Given the description of an element on the screen output the (x, y) to click on. 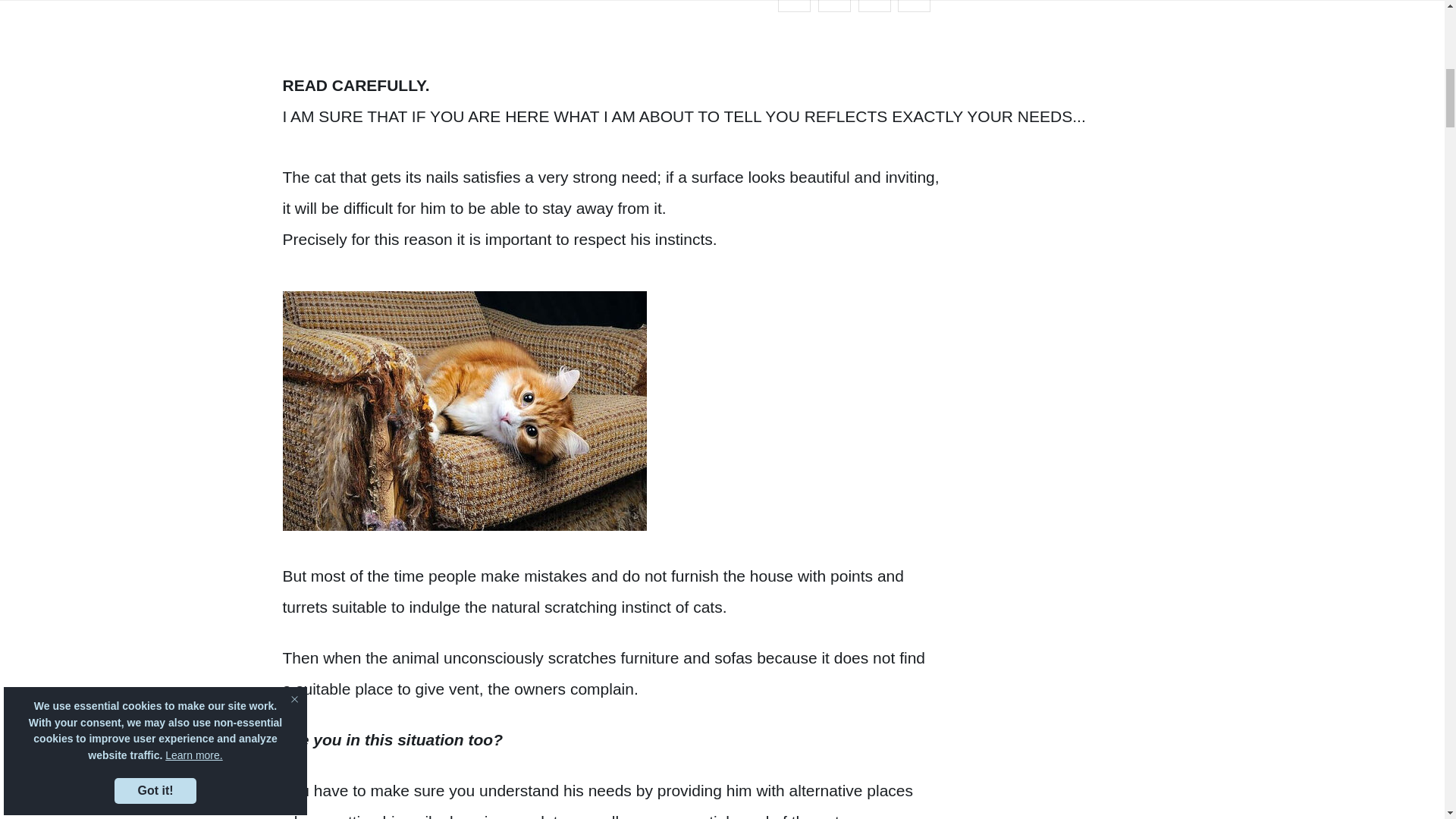
Email this to a friend (914, 6)
Share this on Twitter (793, 6)
Share this on Facebook (834, 6)
Share this on Pinterest (875, 6)
